Given the description of an element on the screen output the (x, y) to click on. 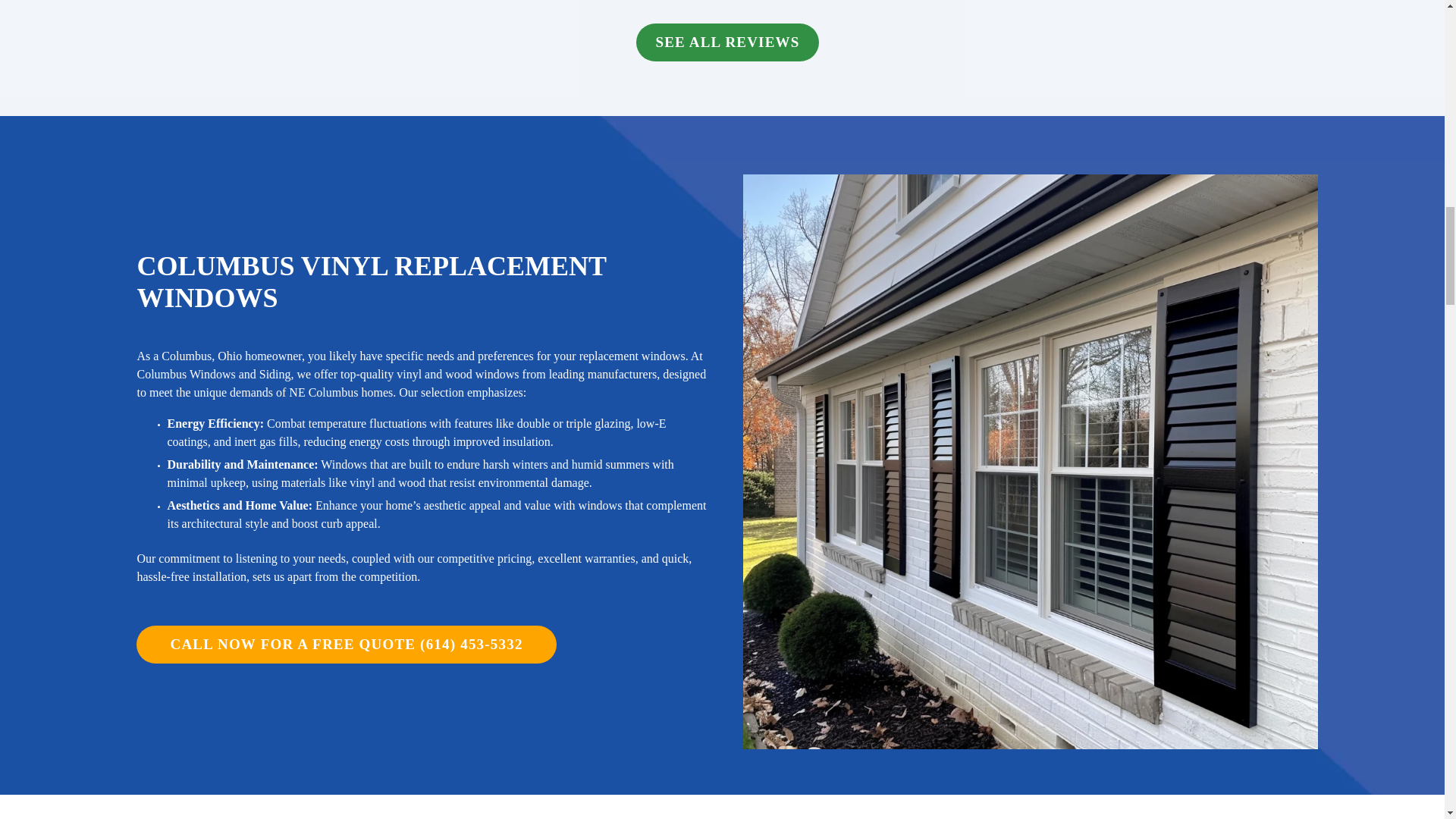
Reviews (727, 42)
Contact (346, 644)
